Given the description of an element on the screen output the (x, y) to click on. 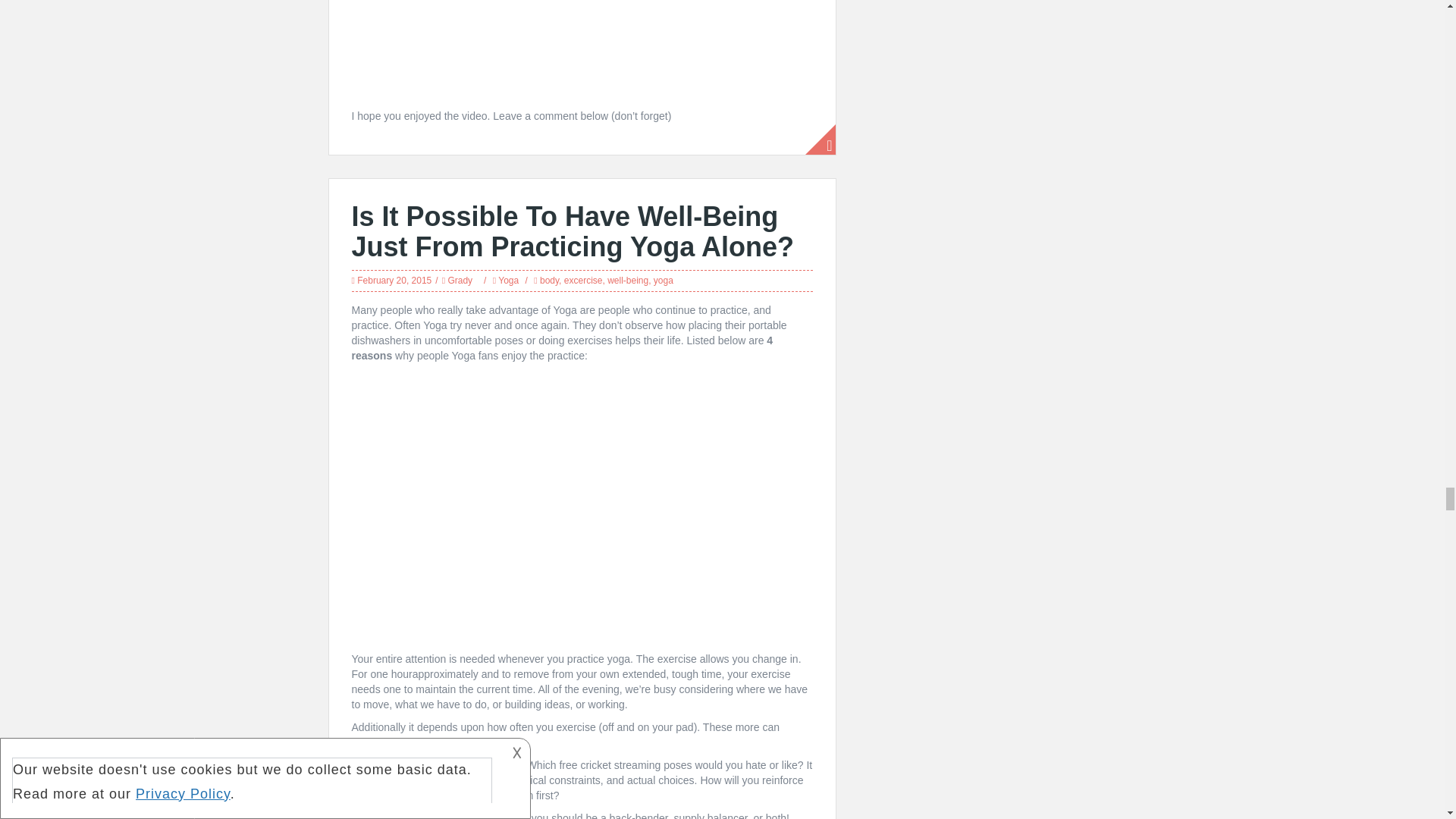
Yoga For Your Lunch Break (582, 507)
